Given the description of an element on the screen output the (x, y) to click on. 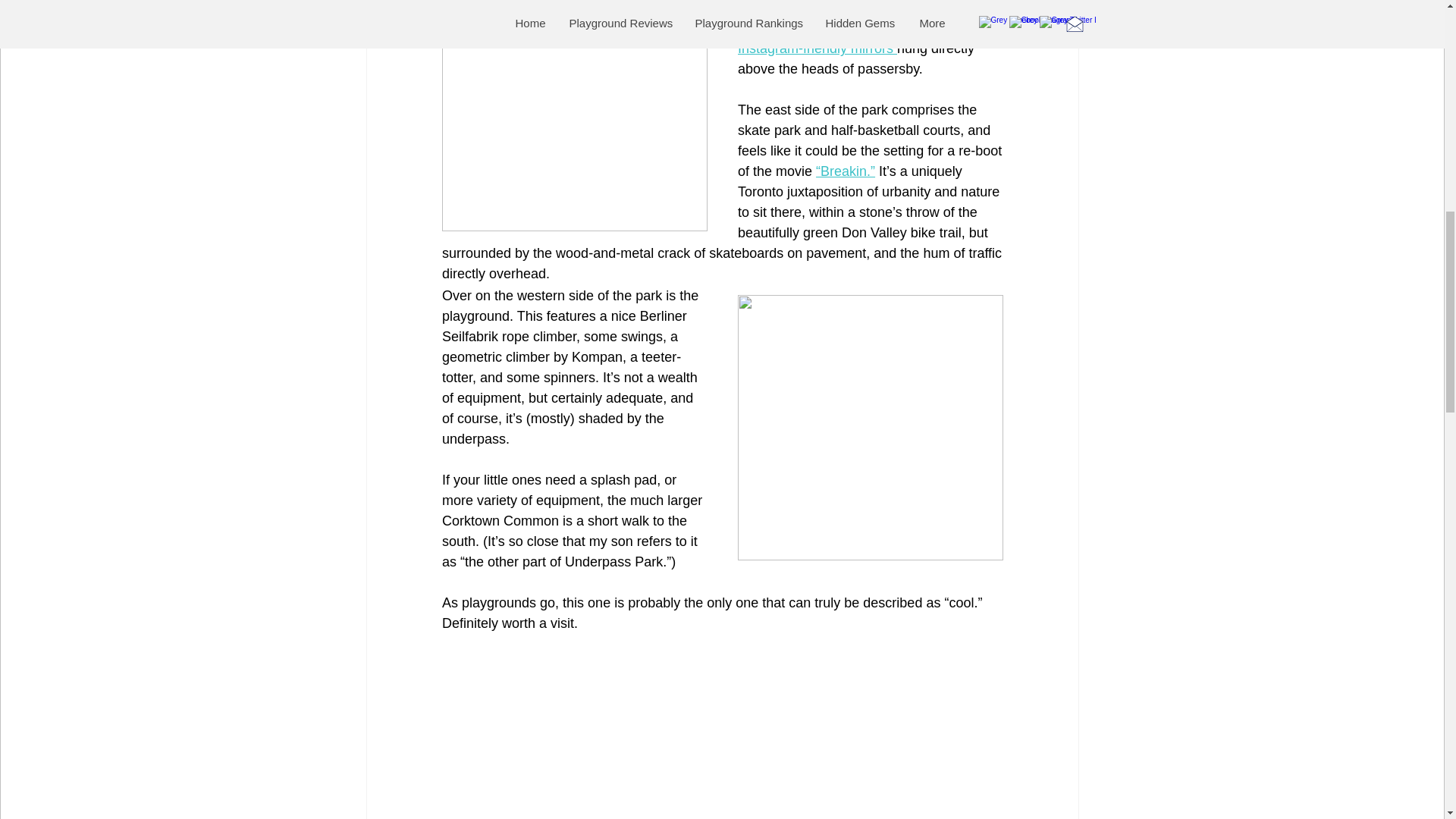
Instagram-friendly mirrors  (816, 48)
